Given the description of an element on the screen output the (x, y) to click on. 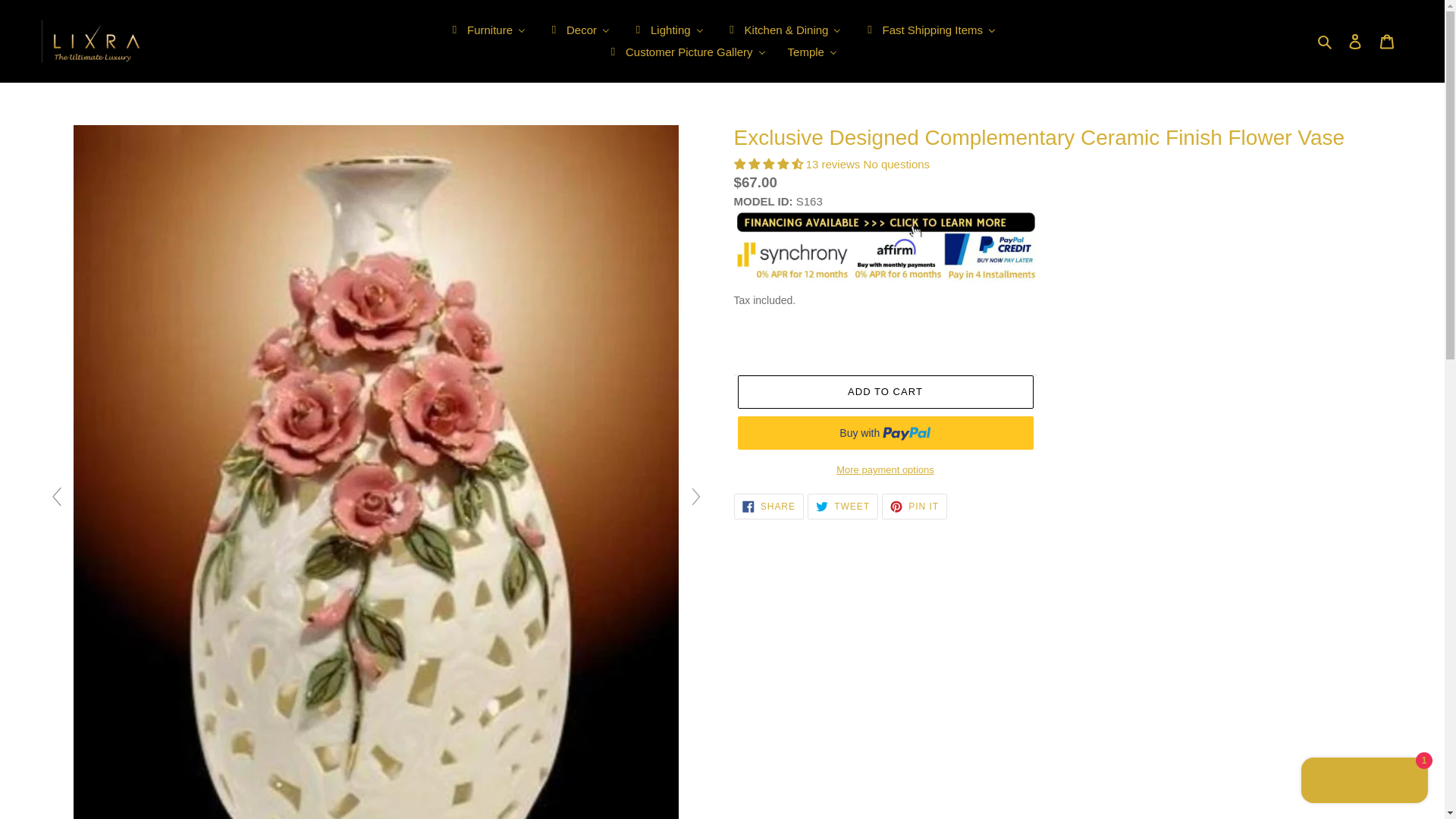
Furniture (487, 29)
